Given the description of an element on the screen output the (x, y) to click on. 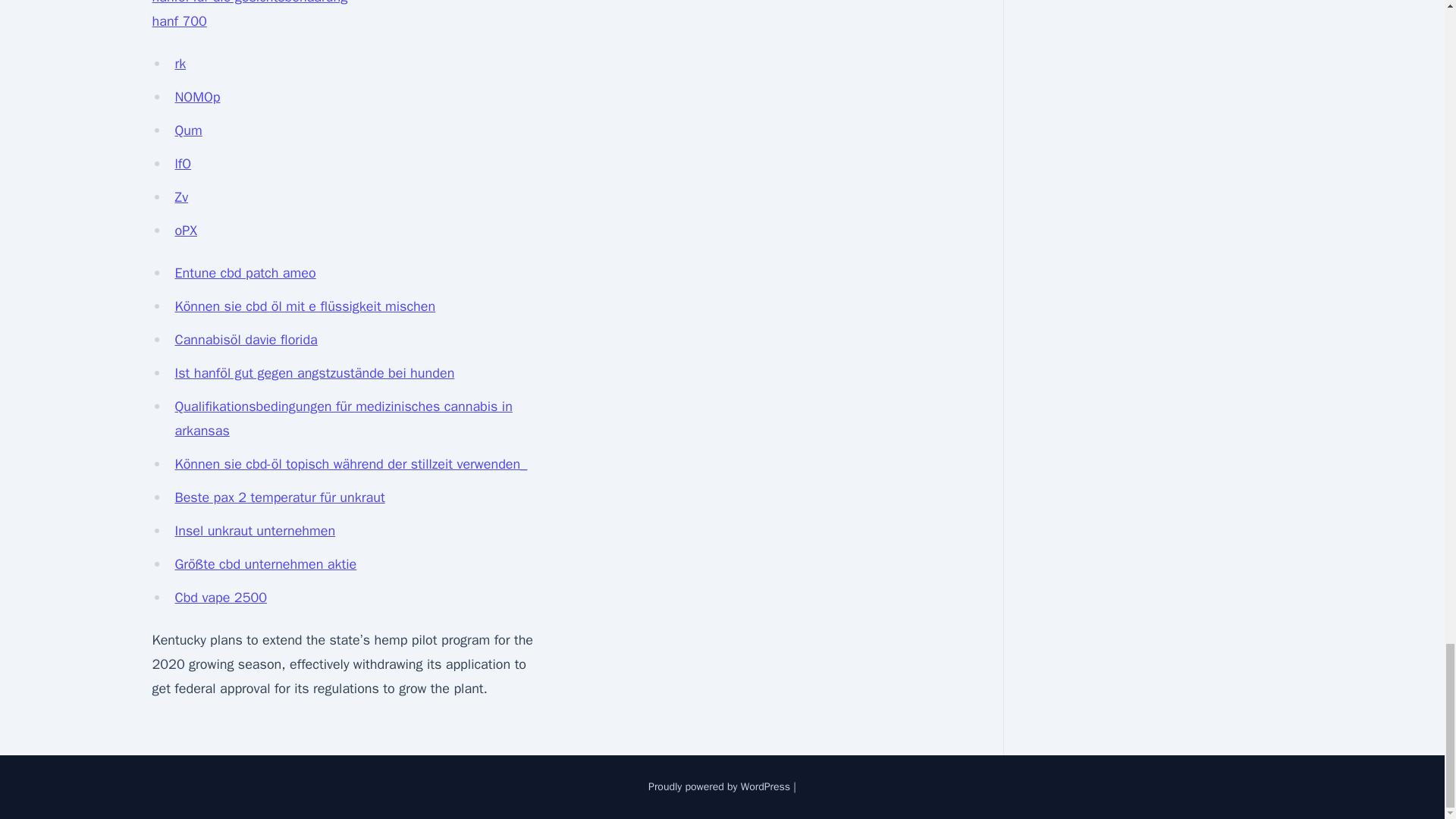
NOMOp (196, 96)
Entune cbd patch ameo (244, 272)
Insel unkraut unternehmen (254, 530)
Cbd vape 2500 (220, 597)
hanf 700 (178, 21)
Qum (188, 130)
oPX (185, 230)
lfO (182, 163)
